Given the description of an element on the screen output the (x, y) to click on. 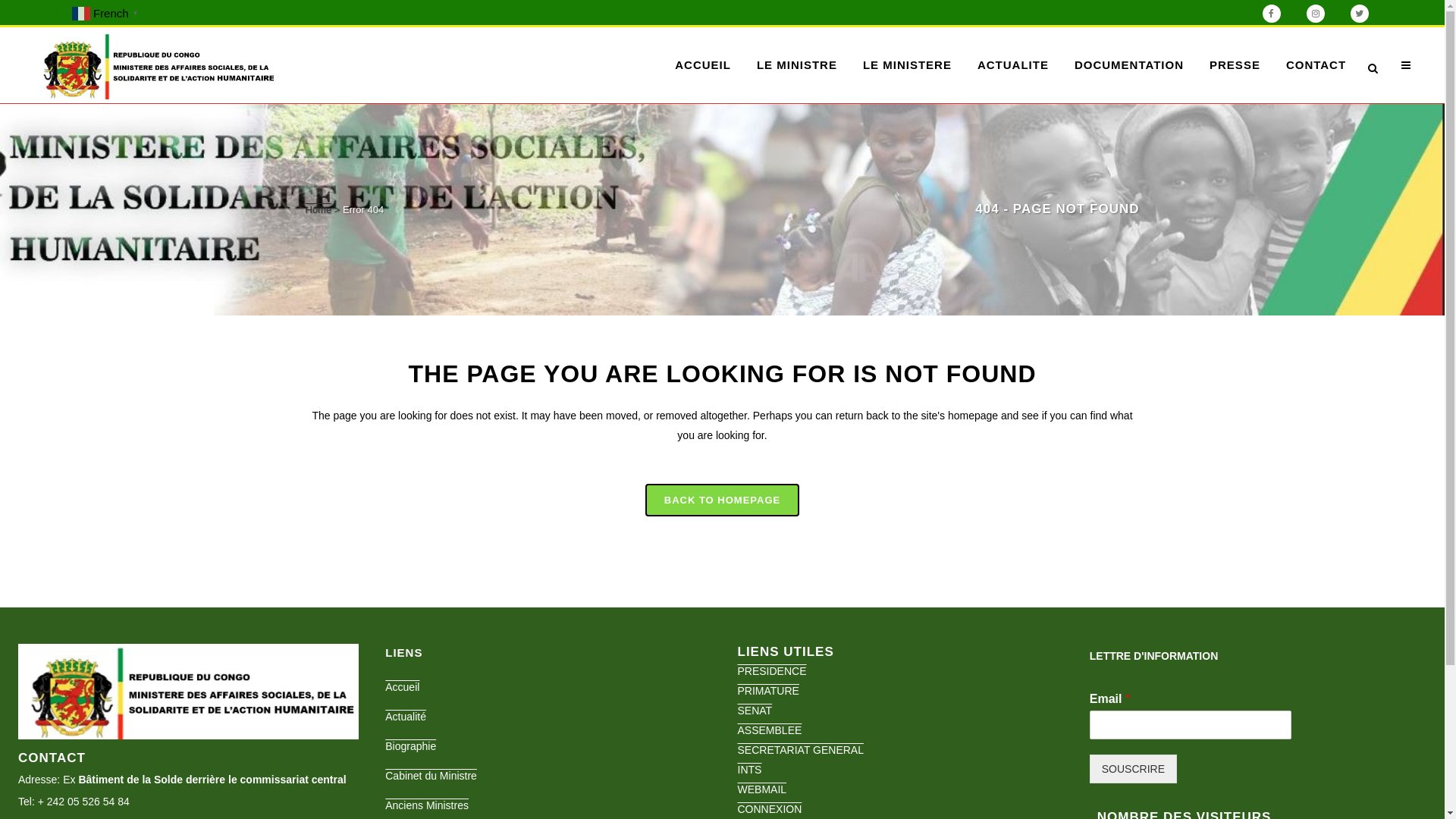
Accueil Element type: text (549, 686)
LE MINISTRE Element type: text (796, 65)
LE MINISTERE Element type: text (907, 65)
ASSEMBLEE Element type: text (769, 730)
CONTACT Element type: text (1315, 65)
ACTUALITE Element type: text (1012, 65)
Anciens Ministres Element type: text (549, 805)
ACCUEIL Element type: text (702, 65)
Home Element type: text (317, 209)
PRIMATURE Element type: text (767, 690)
BACK TO HOMEPAGE Element type: text (722, 499)
WEBMAIL Element type: text (761, 789)
DOCUMENTATION Element type: text (1128, 65)
SENAT Element type: text (754, 710)
Biographie Element type: text (549, 745)
Cabinet du Ministre Element type: text (549, 775)
SOUSCRIRE Element type: text (1132, 768)
PRESSE Element type: text (1234, 65)
CONNEXION Element type: text (769, 809)
INTS Element type: text (749, 769)
PRESIDENCE Element type: text (771, 671)
SECRETARIAT GENERAL Element type: text (799, 749)
